Given the description of an element on the screen output the (x, y) to click on. 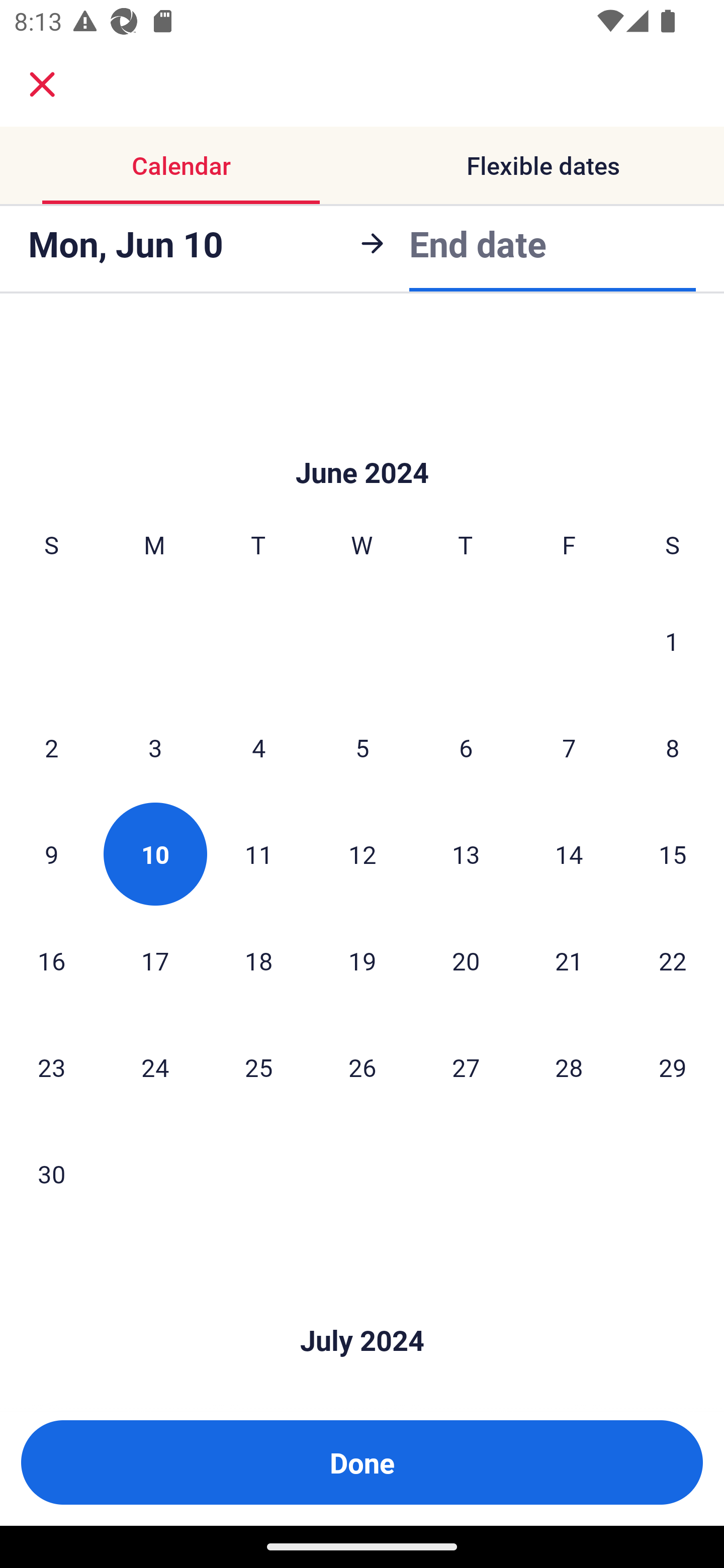
close. (42, 84)
Flexible dates (542, 164)
End date (477, 240)
Skip to Done (362, 441)
1 Saturday, June 1, 2024 (672, 641)
2 Sunday, June 2, 2024 (51, 747)
3 Monday, June 3, 2024 (155, 747)
4 Tuesday, June 4, 2024 (258, 747)
5 Wednesday, June 5, 2024 (362, 747)
6 Thursday, June 6, 2024 (465, 747)
7 Friday, June 7, 2024 (569, 747)
8 Saturday, June 8, 2024 (672, 747)
9 Sunday, June 9, 2024 (51, 854)
11 Tuesday, June 11, 2024 (258, 854)
12 Wednesday, June 12, 2024 (362, 854)
13 Thursday, June 13, 2024 (465, 854)
14 Friday, June 14, 2024 (569, 854)
15 Saturday, June 15, 2024 (672, 854)
16 Sunday, June 16, 2024 (51, 960)
17 Monday, June 17, 2024 (155, 960)
18 Tuesday, June 18, 2024 (258, 960)
19 Wednesday, June 19, 2024 (362, 960)
20 Thursday, June 20, 2024 (465, 960)
21 Friday, June 21, 2024 (569, 960)
22 Saturday, June 22, 2024 (672, 960)
23 Sunday, June 23, 2024 (51, 1066)
24 Monday, June 24, 2024 (155, 1066)
25 Tuesday, June 25, 2024 (258, 1066)
26 Wednesday, June 26, 2024 (362, 1066)
27 Thursday, June 27, 2024 (465, 1066)
28 Friday, June 28, 2024 (569, 1066)
29 Saturday, June 29, 2024 (672, 1066)
30 Sunday, June 30, 2024 (51, 1173)
Skip to Done (362, 1310)
Done (361, 1462)
